Given the description of an element on the screen output the (x, y) to click on. 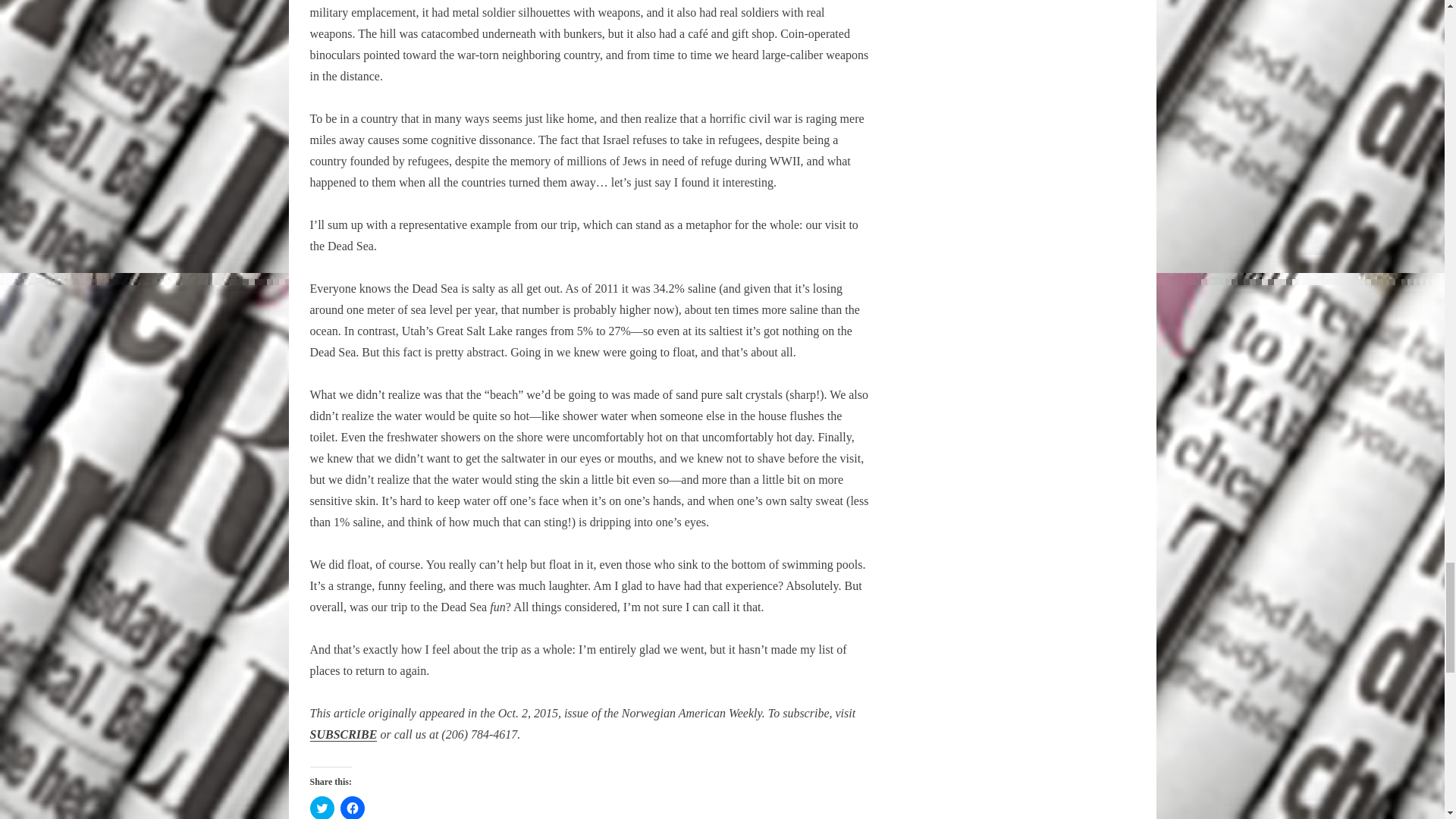
SUBSCRIBE (342, 735)
Click to share on Facebook (351, 807)
Click to share on Twitter (320, 807)
